Given the description of an element on the screen output the (x, y) to click on. 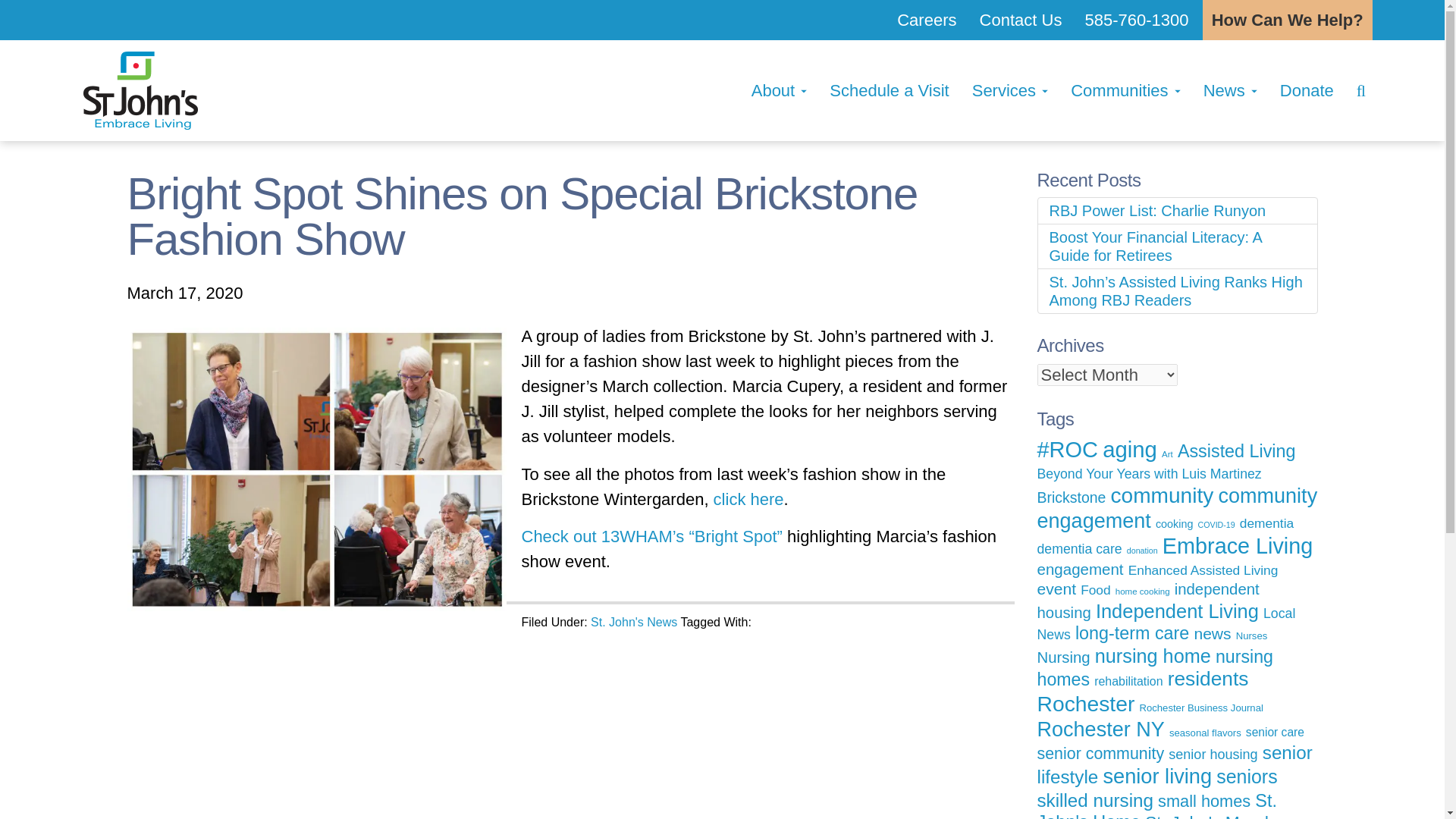
585-760-1300 (1136, 20)
News (1230, 90)
St. John's (140, 88)
How Can We Help? (1287, 20)
About (778, 90)
Schedule a Visit (888, 90)
About (778, 90)
Communities (1125, 90)
Schedule a Visit (888, 90)
Search (1364, 90)
